Given the description of an element on the screen output the (x, y) to click on. 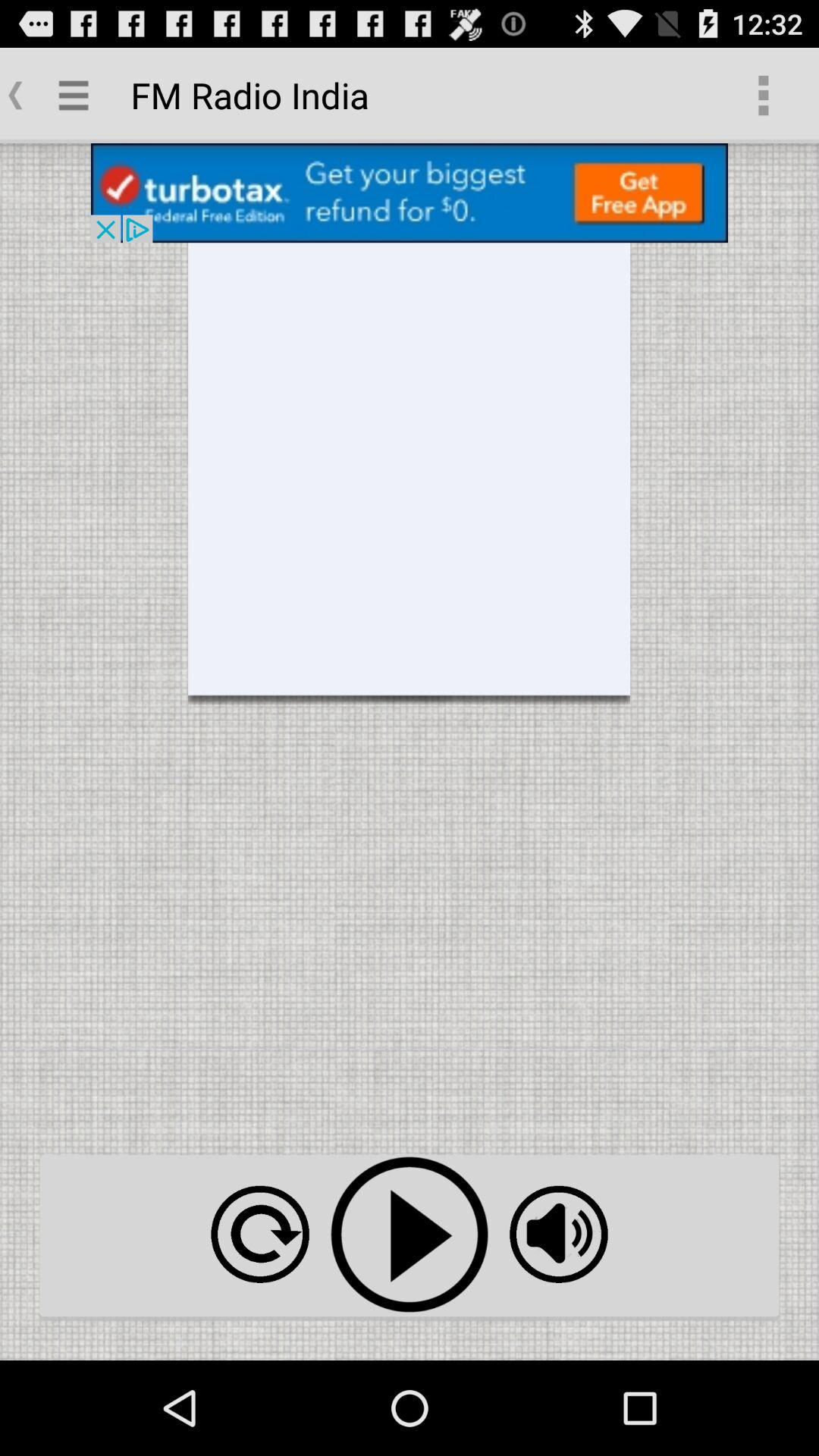
tap item to the right of the fm radio india app (763, 95)
